Given the description of an element on the screen output the (x, y) to click on. 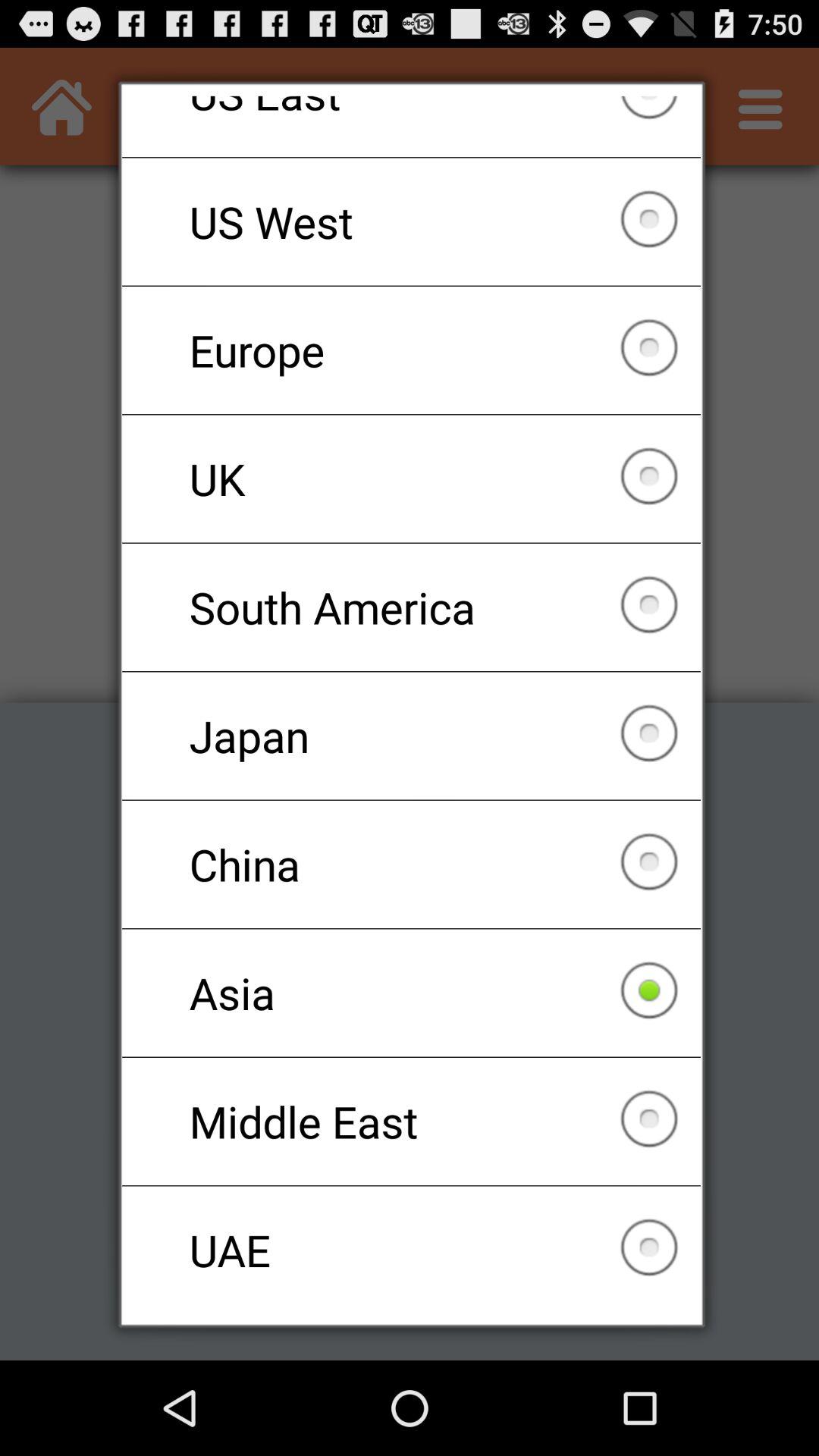
open item below     japan (411, 864)
